Given the description of an element on the screen output the (x, y) to click on. 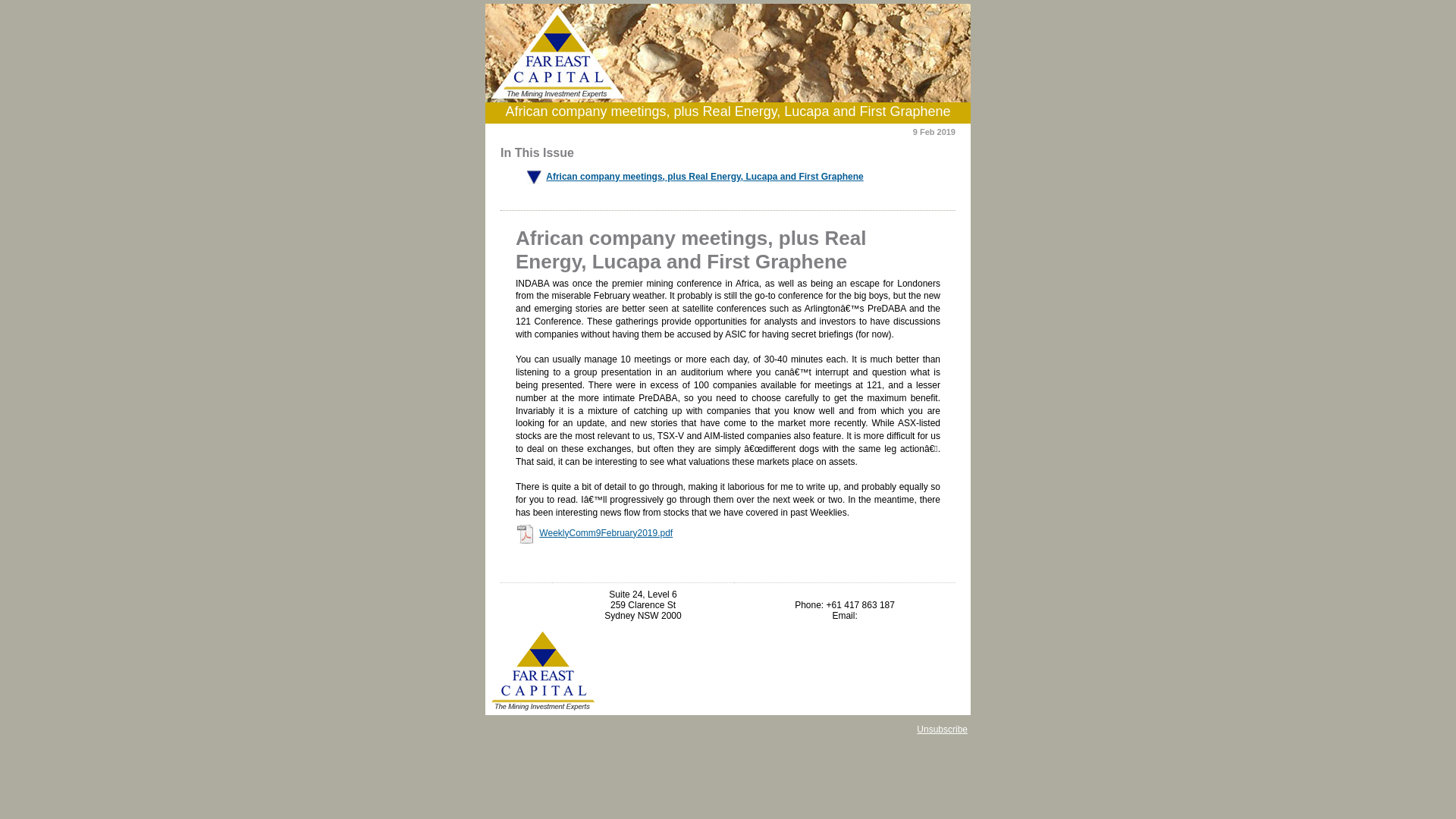
WeeklyComm9February2019.pdf Element type: text (605, 532)
Unsubscribe Element type: text (941, 729)
